Given the description of an element on the screen output the (x, y) to click on. 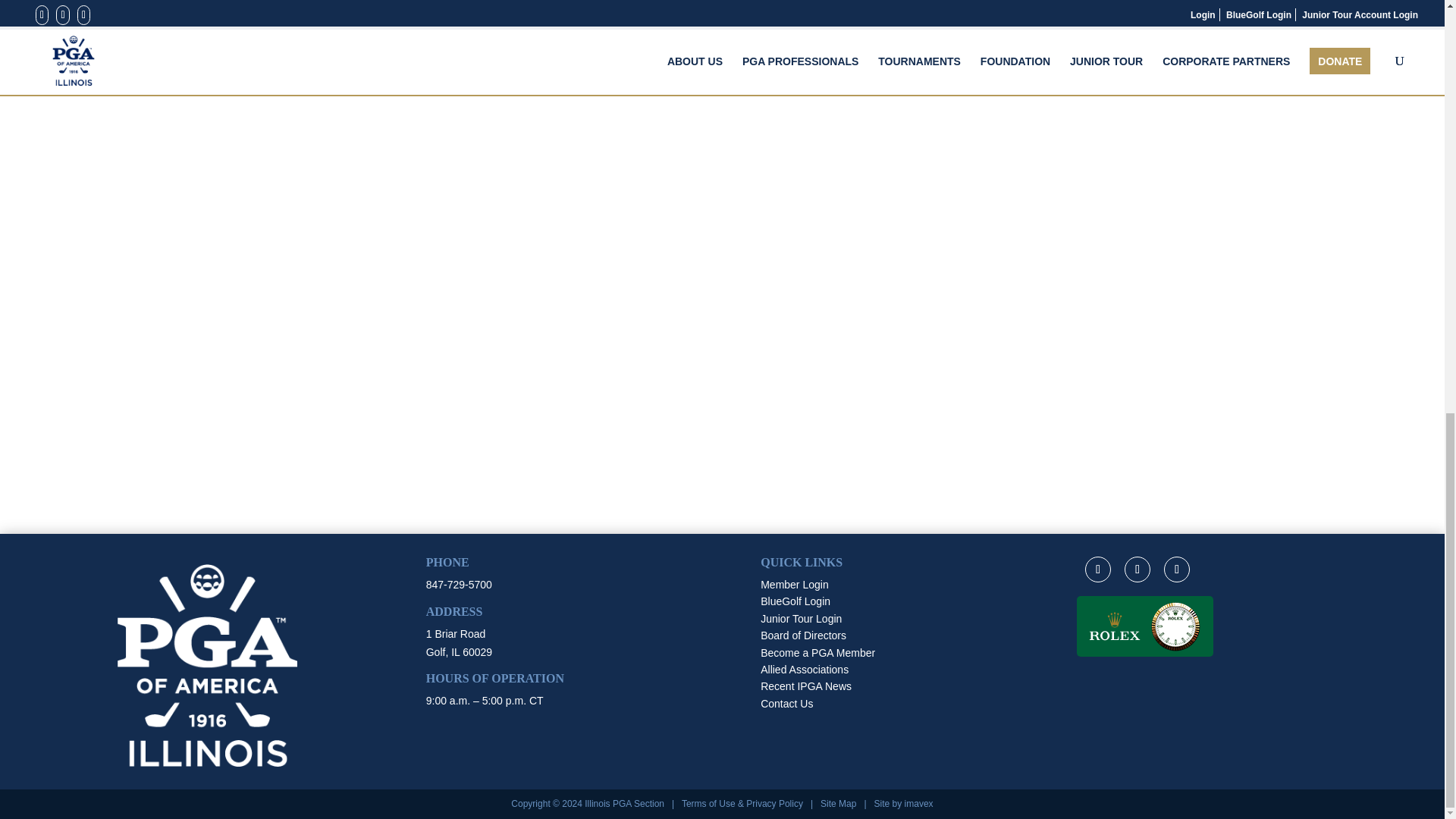
Site By Imavex, Your Digital Marketing Guru (918, 803)
847-729-5700 (459, 584)
Follow on Instagram (1176, 569)
Follow on Facebook (1097, 569)
Follow on Twitter (1137, 569)
